Given the description of an element on the screen output the (x, y) to click on. 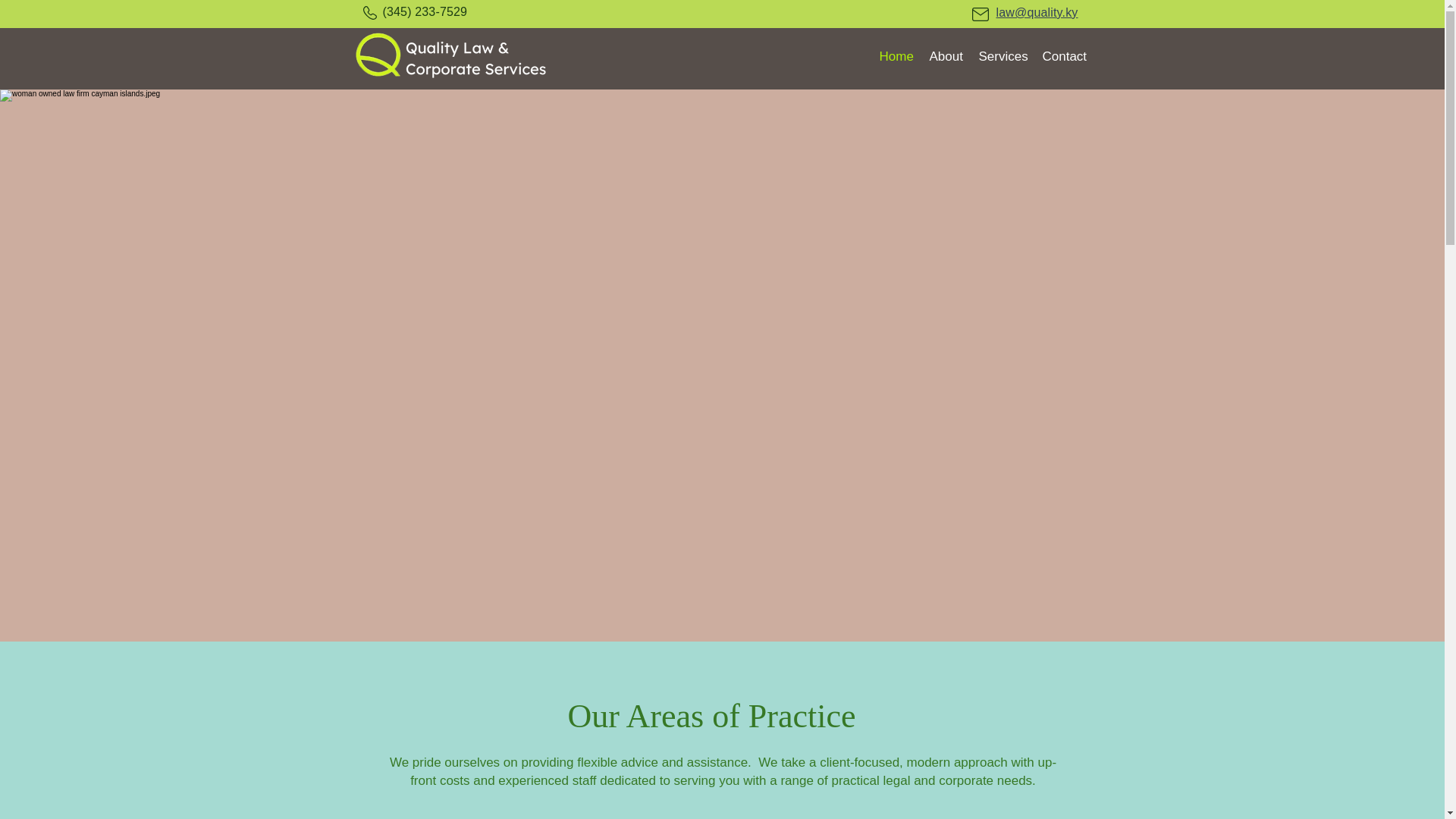
Contact (1063, 56)
About (946, 56)
Home (896, 56)
